Given the description of an element on the screen output the (x, y) to click on. 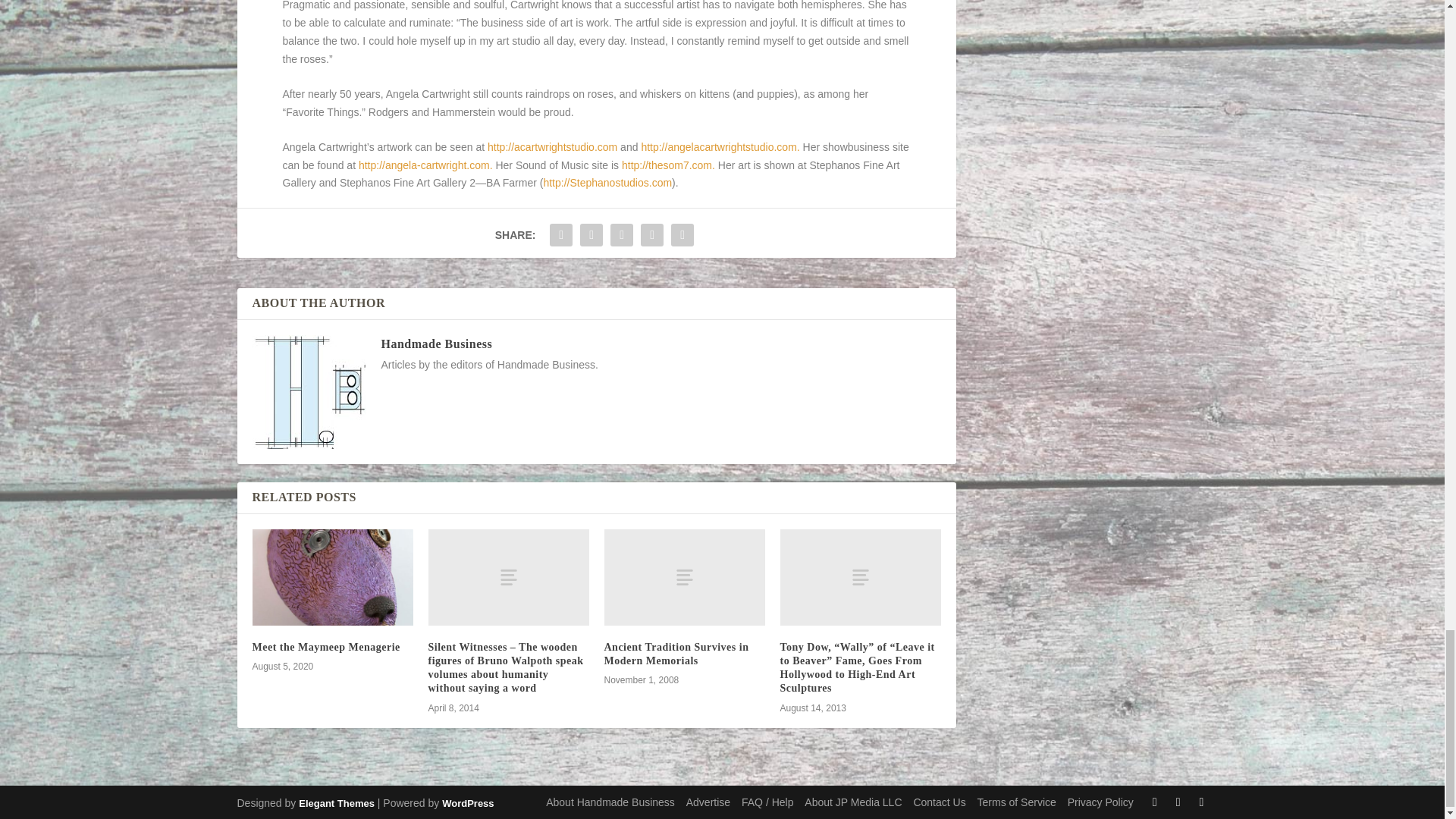
View all posts by Handmade Business (436, 343)
Ancient Tradition Survives in Modern Memorials (684, 577)
Premium WordPress Themes (336, 803)
Meet the Maymeep Menagerie (331, 577)
